Given the description of an element on the screen output the (x, y) to click on. 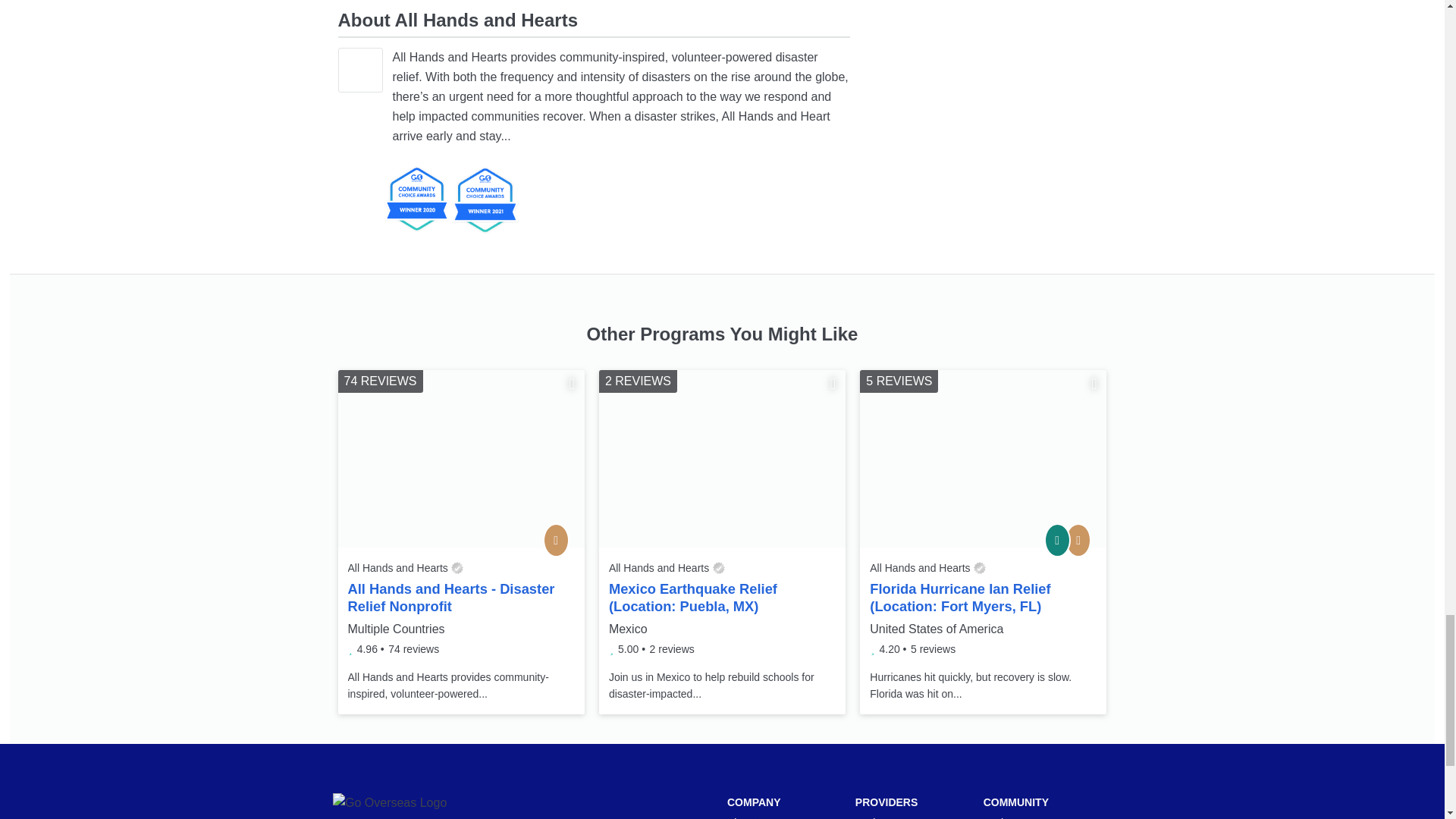
Award Badge (483, 200)
Award Badge (415, 198)
All Hands and Hearts - Logo (359, 69)
